Given the description of an element on the screen output the (x, y) to click on. 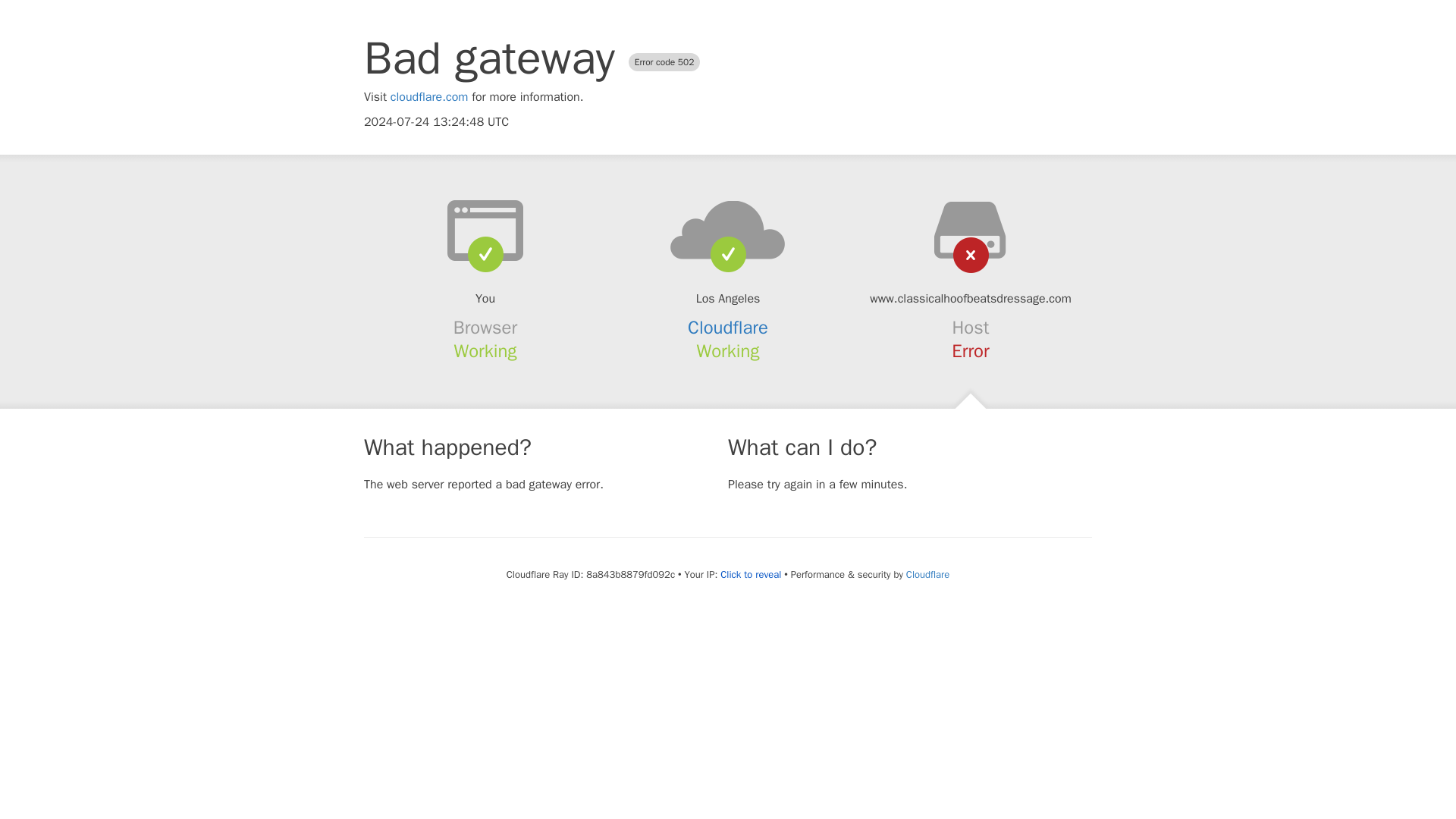
Cloudflare (927, 574)
cloudflare.com (429, 96)
Cloudflare (727, 327)
Click to reveal (750, 574)
